Given the description of an element on the screen output the (x, y) to click on. 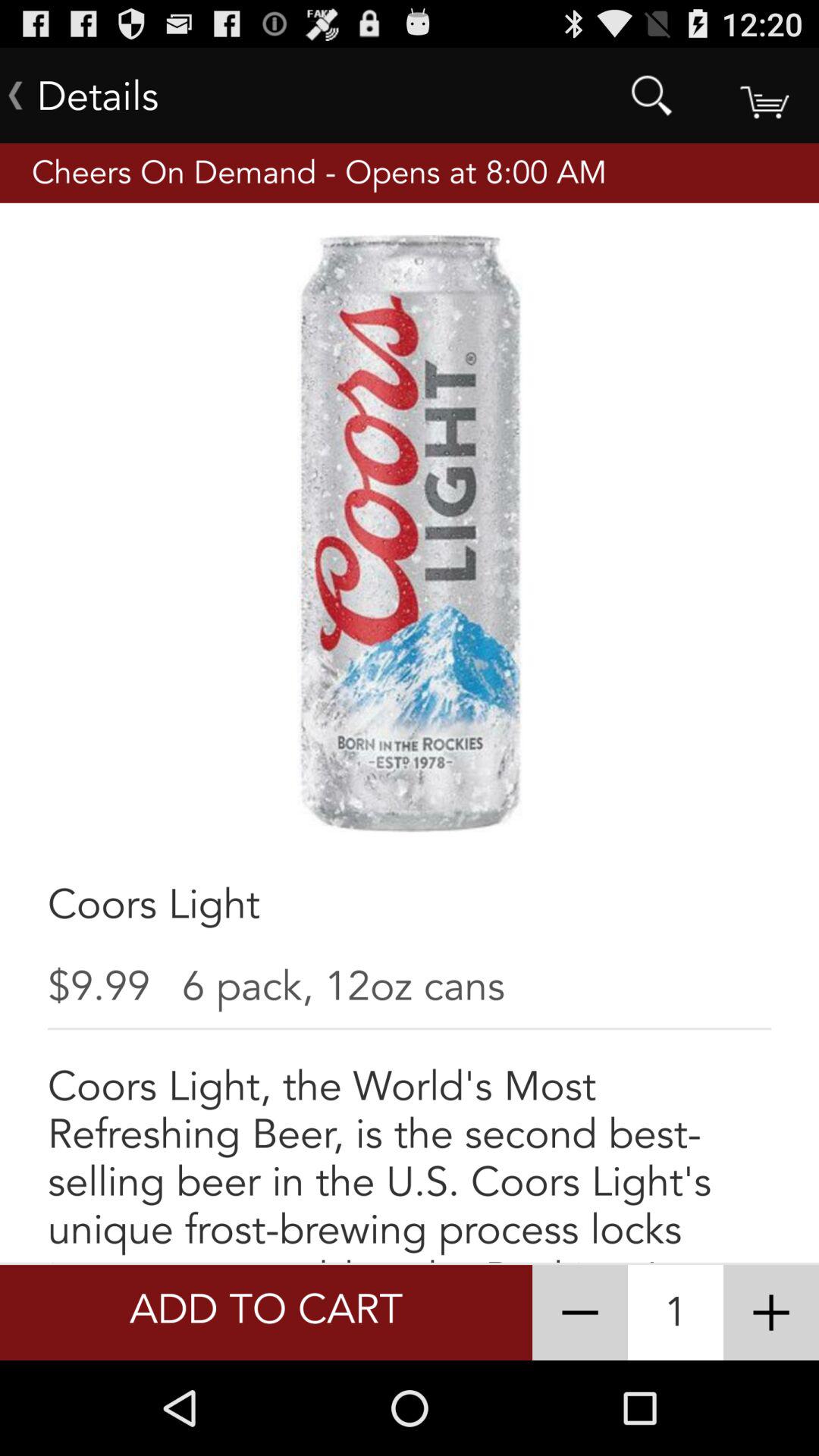
choose the item next to the 1 item (771, 1312)
